Given the description of an element on the screen output the (x, y) to click on. 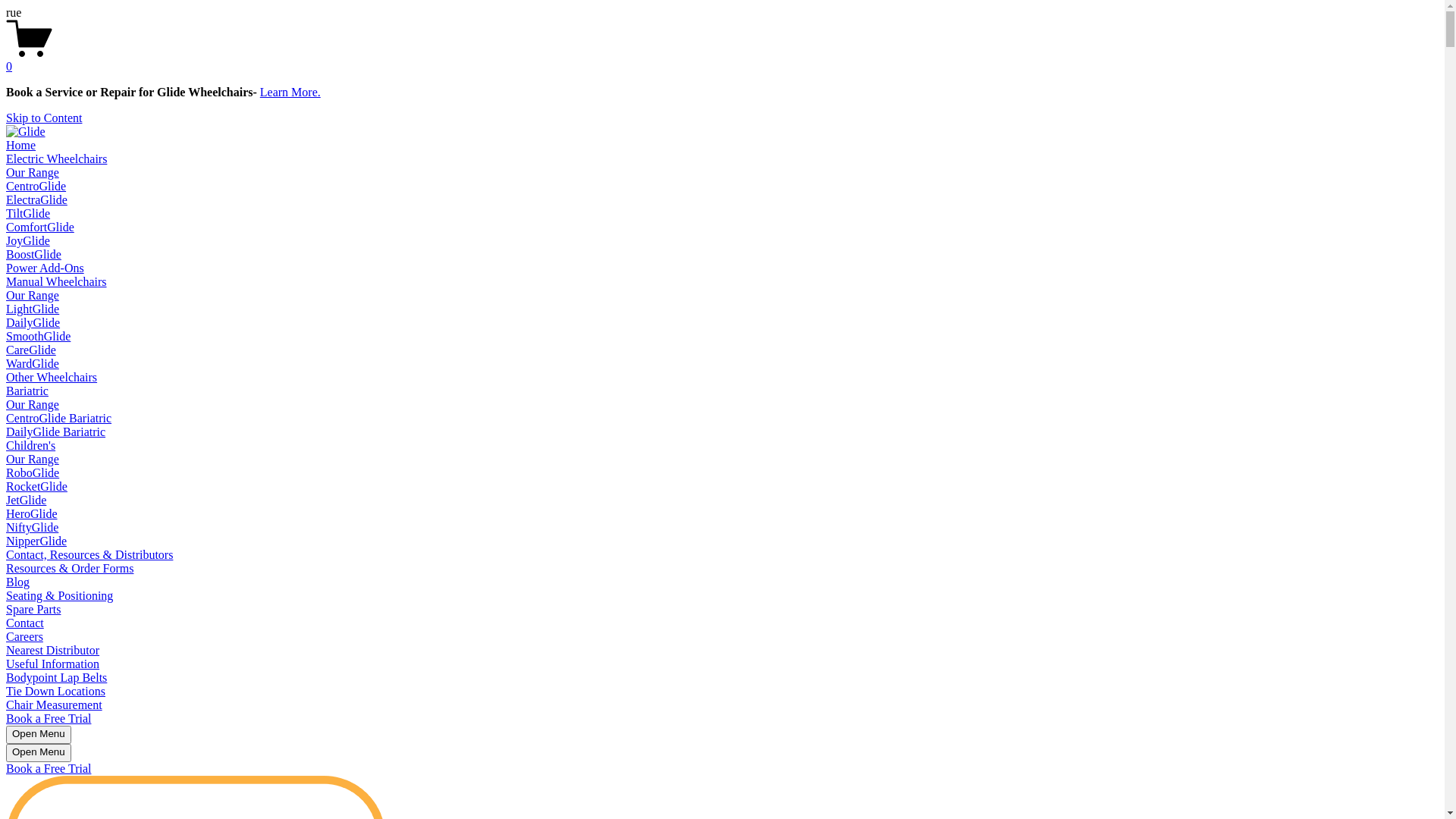
Chair Measurement Element type: text (54, 704)
NiftyGlide Element type: text (32, 526)
Seating & Positioning Element type: text (59, 595)
Learn More. Element type: text (290, 91)
Bodypoint Lap Belts Element type: text (56, 677)
Book a Free Trial Element type: text (48, 768)
Contact, Resources & Distributors Element type: text (89, 554)
HeroGlide Element type: text (31, 513)
0 Element type: text (722, 59)
Our Range Element type: text (32, 172)
Contact Element type: text (24, 622)
Our Range Element type: text (32, 294)
Manual Wheelchairs Element type: text (56, 281)
Resources & Order Forms Element type: text (69, 567)
Home Element type: text (20, 144)
JoyGlide Element type: text (28, 240)
Open Menu Element type: text (38, 734)
Our Range Element type: text (32, 458)
SmoothGlide Element type: text (38, 335)
CentroGlide Bariatric Element type: text (58, 417)
Bariatric Element type: text (27, 390)
Children's Element type: text (30, 445)
Careers Element type: text (24, 636)
JetGlide Element type: text (26, 499)
DailyGlide Element type: text (32, 322)
Our Range Element type: text (32, 404)
Power Add-Ons Element type: text (45, 267)
Spare Parts Element type: text (33, 608)
ComfortGlide Element type: text (40, 226)
Book a Free Trial Element type: text (48, 718)
BoostGlide Element type: text (33, 253)
Blog Element type: text (17, 581)
RocketGlide Element type: text (36, 486)
Open Menu Element type: text (38, 752)
CentroGlide Element type: text (35, 185)
ElectraGlide Element type: text (36, 199)
Electric Wheelchairs Element type: text (56, 158)
WardGlide Element type: text (32, 363)
Useful Information Element type: text (52, 663)
RoboGlide Element type: text (32, 472)
Skip to Content Element type: text (43, 117)
Nearest Distributor Element type: text (52, 649)
LightGlide Element type: text (32, 308)
Other Wheelchairs Element type: text (51, 376)
CareGlide Element type: text (31, 349)
DailyGlide Bariatric Element type: text (55, 431)
TiltGlide Element type: text (28, 213)
NipperGlide Element type: text (36, 540)
Tie Down Locations Element type: text (55, 690)
